Given the description of an element on the screen output the (x, y) to click on. 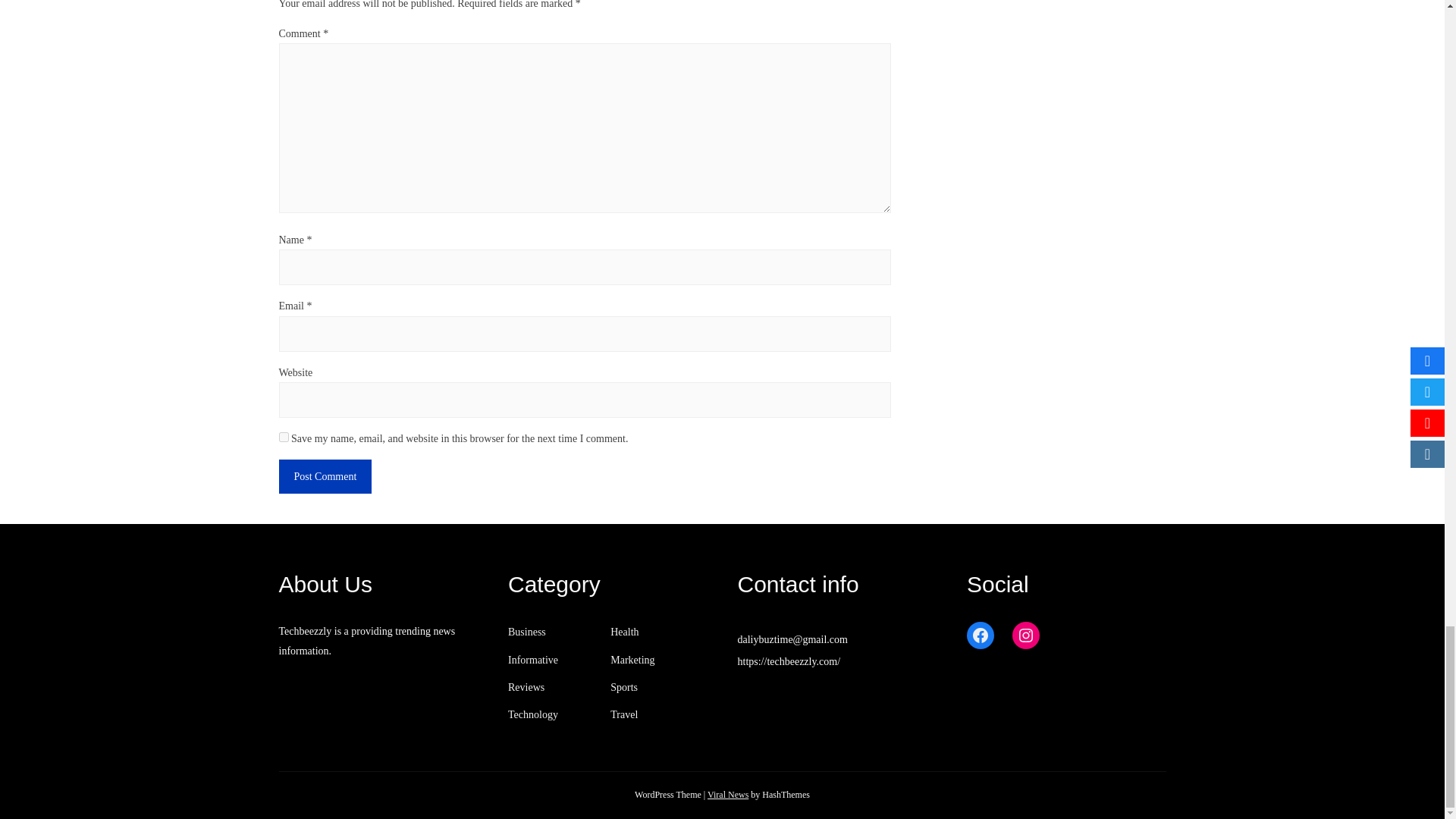
Facebook (980, 635)
Instagram (1025, 635)
yes (283, 437)
Viral News (727, 794)
Download Viral News (727, 794)
Sports (623, 687)
Marketing (631, 660)
Informative (532, 660)
Health (624, 632)
Business (527, 632)
Post Comment (325, 476)
Technology (532, 714)
Travel (623, 714)
Reviews (526, 687)
Post Comment (325, 476)
